Given the description of an element on the screen output the (x, y) to click on. 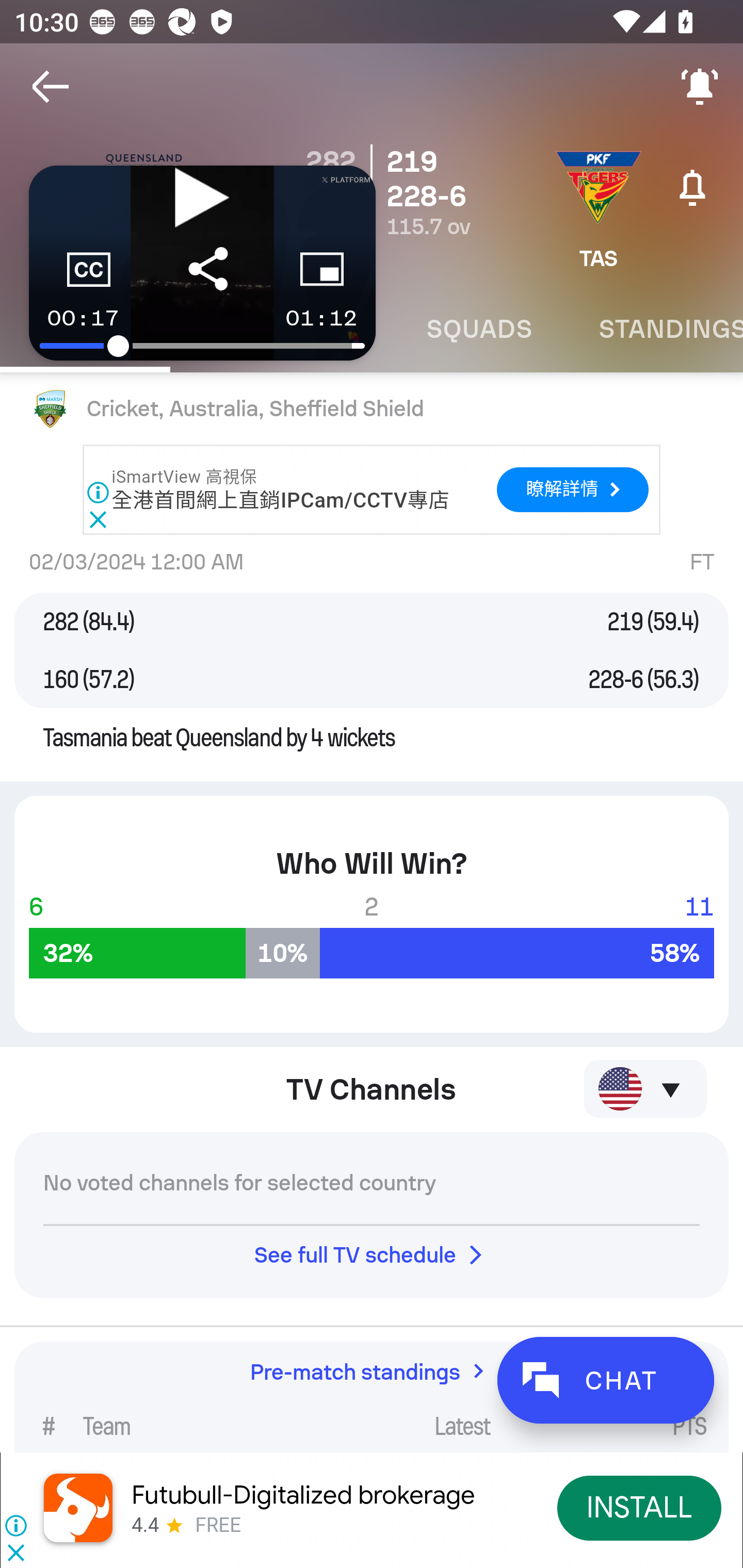
Navigate up (50, 86)
Squads SQUADS (479, 329)
Standings STANDINGS (654, 329)
Cricket, Australia, Sheffield Shield (371, 409)
iSmartView 高視保 (184, 476)
瞭解詳情 (572, 488)
全港首間網上直銷IPCam/CCTV專店 (281, 499)
See full TV schedule (371, 1255)
CHAT (605, 1380)
Pre-match standings # Team Latest PTS (371, 1396)
INSTALL (639, 1507)
Futubull-Digitalized brokerage (302, 1494)
